Given the description of an element on the screen output the (x, y) to click on. 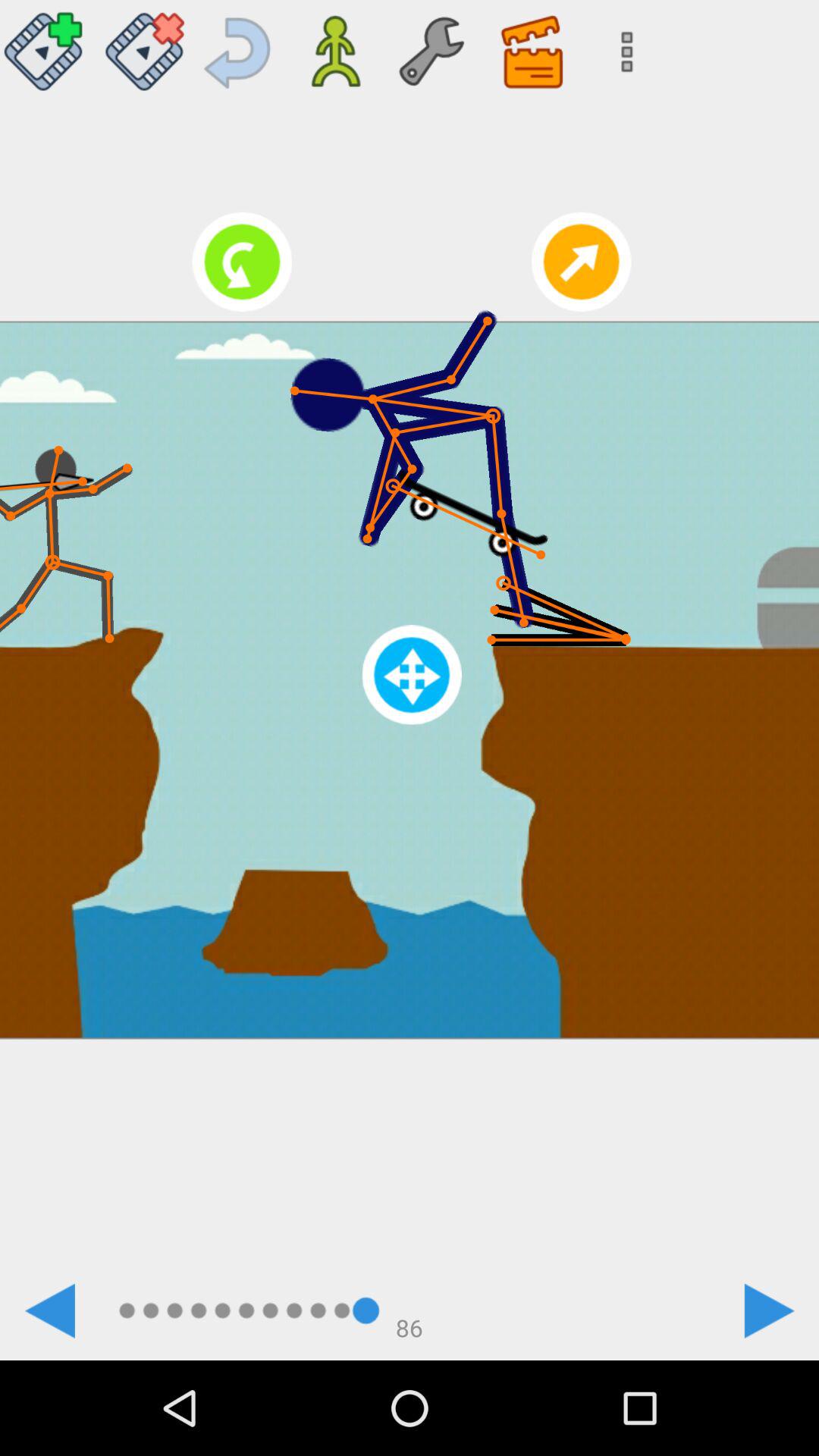
select any one (48, 45)
